Given the description of an element on the screen output the (x, y) to click on. 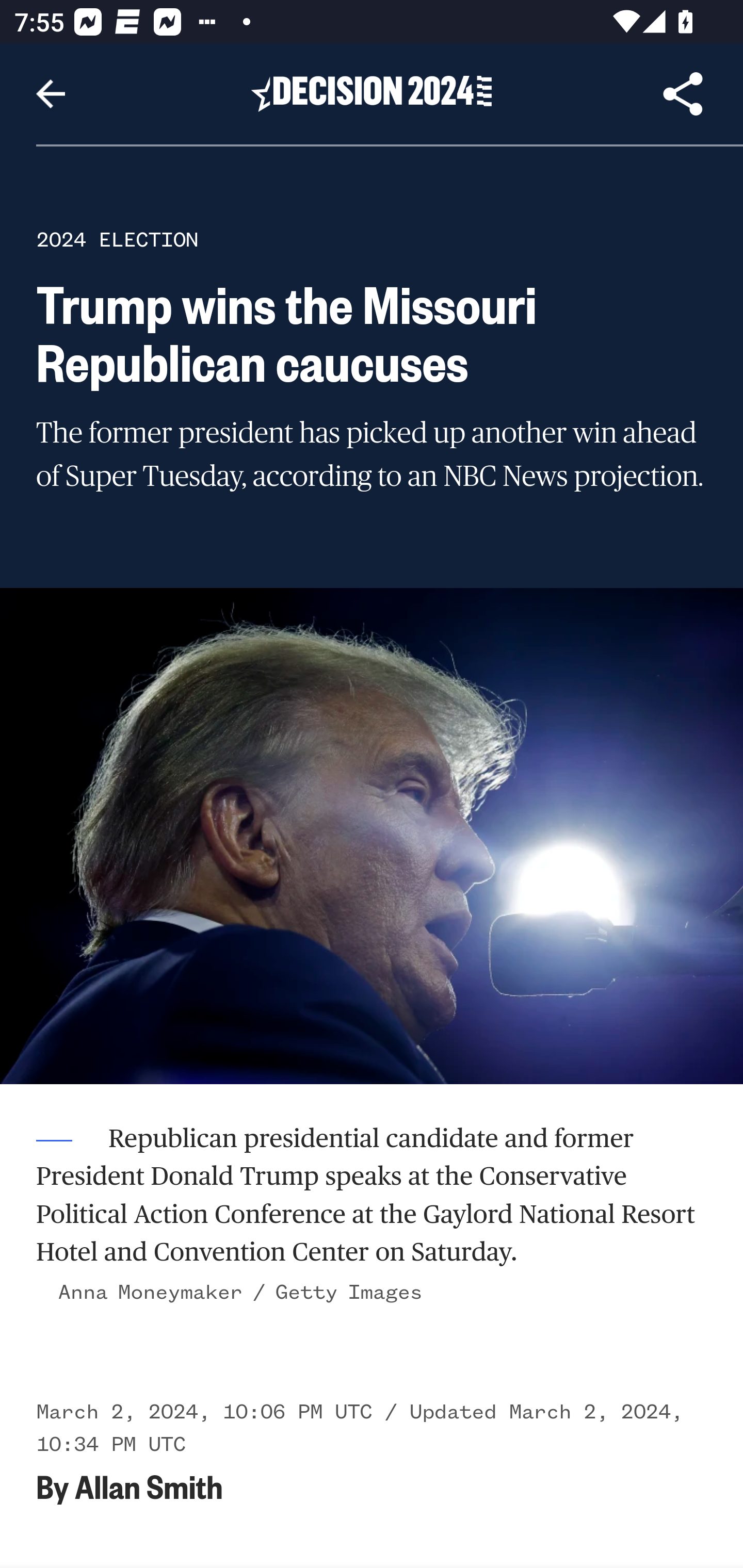
Navigate up (50, 93)
Share Article, button (683, 94)
Header, Decision 2024 (371, 93)
2024 ELECTION (117, 239)
